Given the description of an element on the screen output the (x, y) to click on. 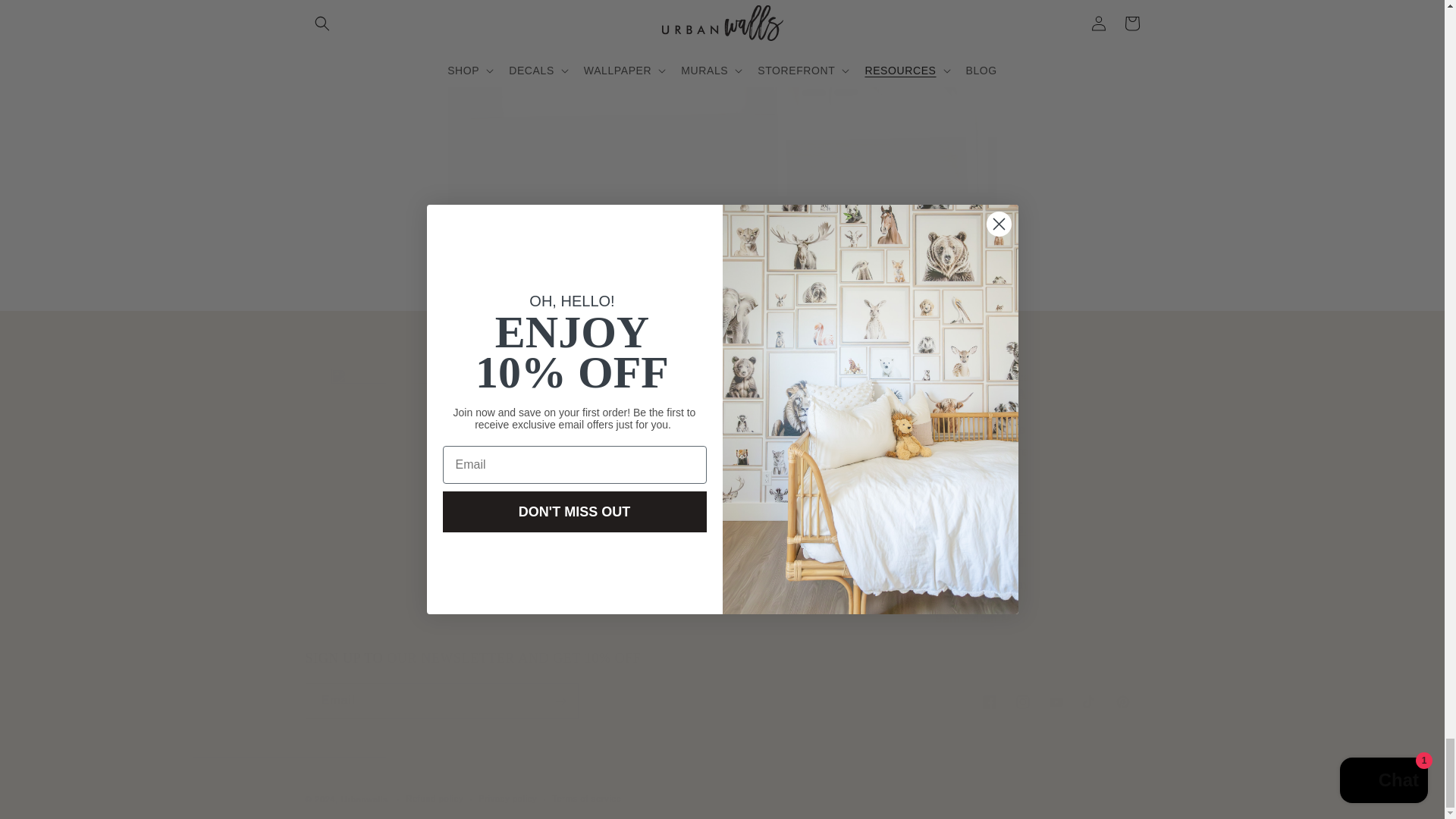
Contact (1016, 517)
